Given the description of an element on the screen output the (x, y) to click on. 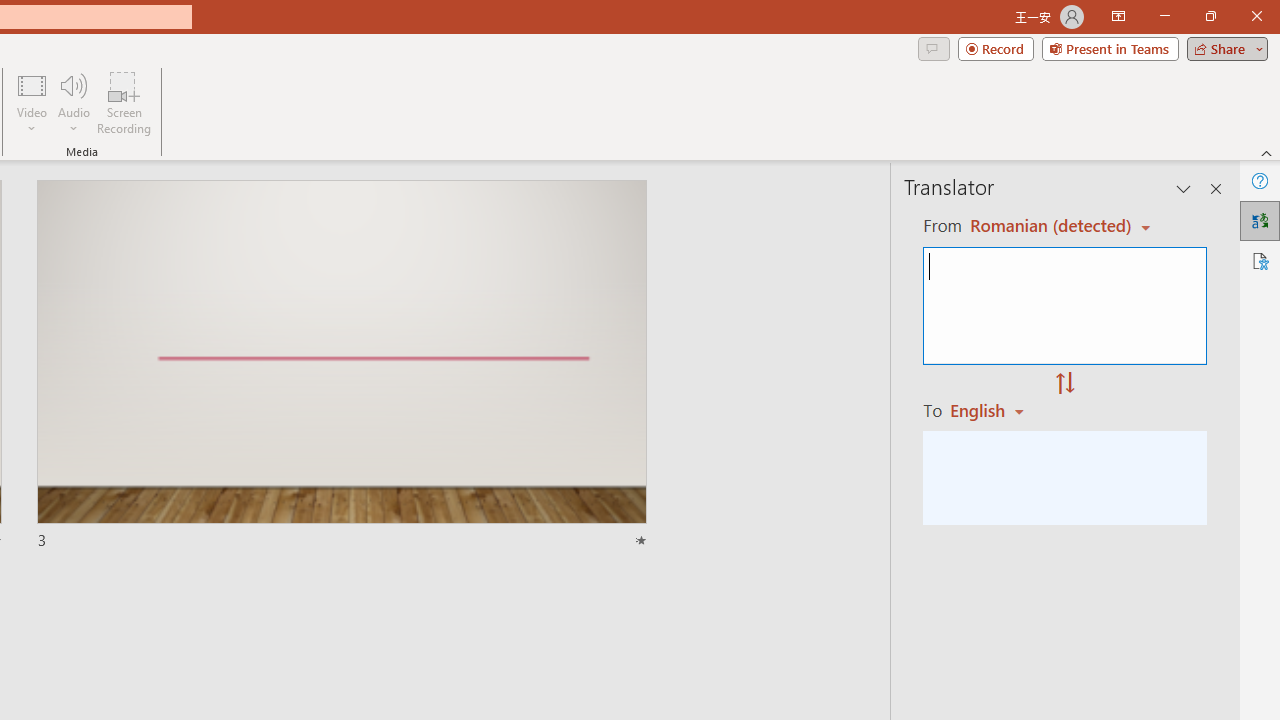
Czech (detected) (1047, 225)
Swap "from" and "to" languages. (1065, 383)
Romanian (994, 409)
Slide (341, 365)
